Given the description of an element on the screen output the (x, y) to click on. 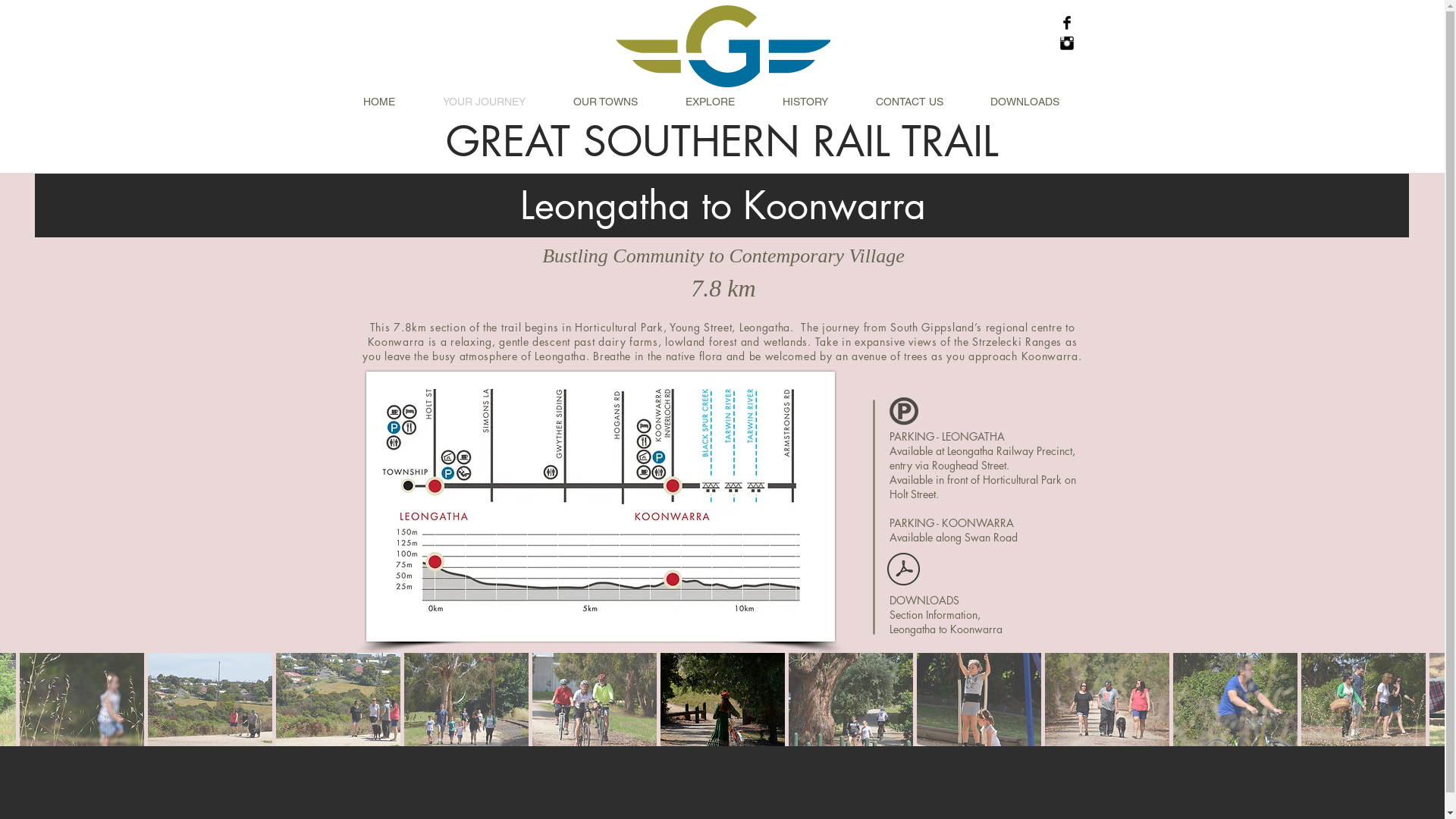
CONTACT US Element type: text (921, 101)
OUR TOWNS Element type: text (617, 101)
HISTORY Element type: text (816, 101)
YOUR JOURNEY Element type: text (495, 101)
EXPLORE Element type: text (721, 101)
DOWNLOADS Element type: text (1036, 101)
Leongatha to Koonwarra.jpg Element type: hover (599, 506)
HOME Element type: text (391, 101)
GSRT - Leongatha to Koonwarra.pdf Element type: hover (902, 570)
